Given the description of an element on the screen output the (x, y) to click on. 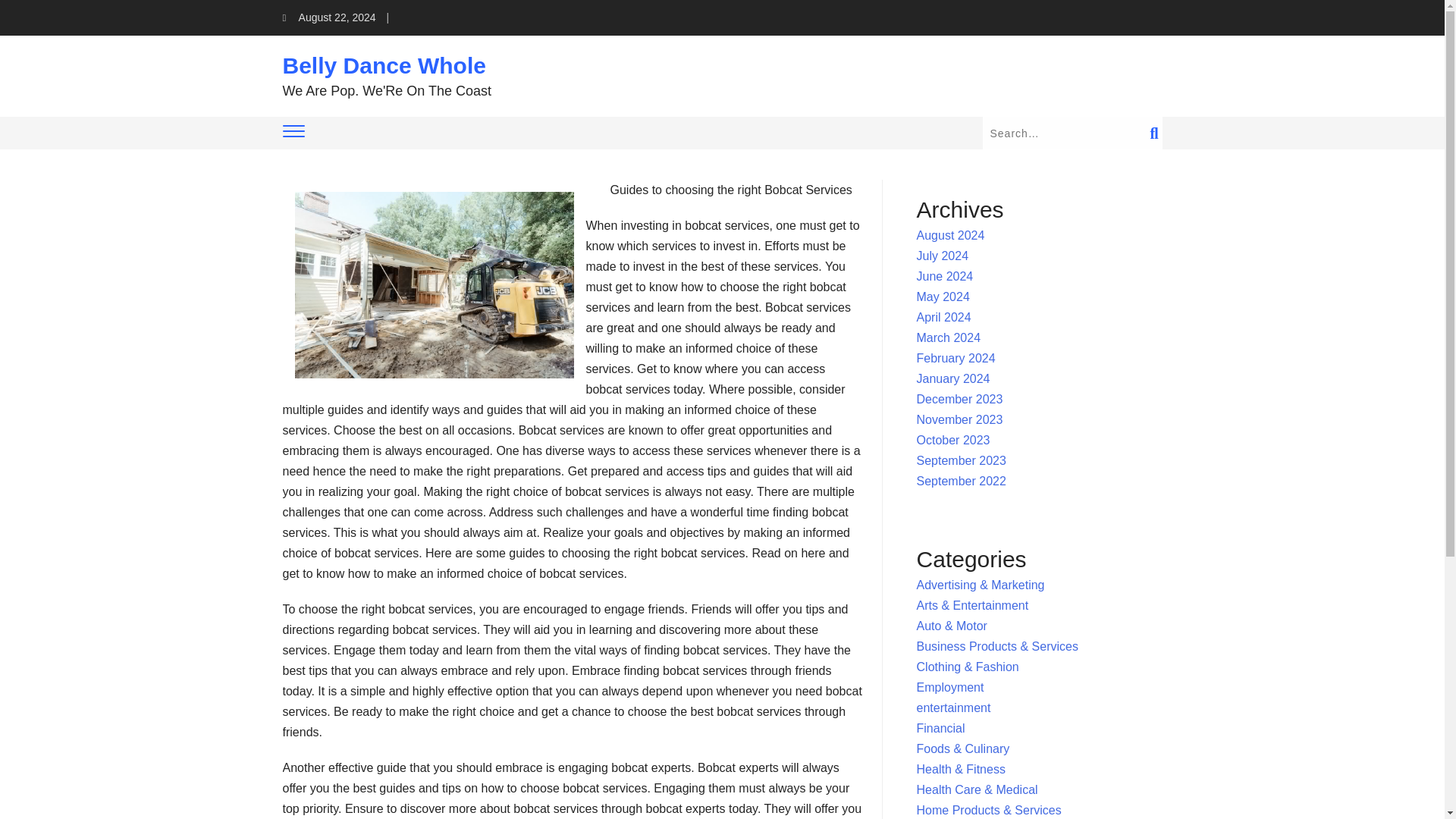
September 2022 (961, 481)
March 2024 (949, 337)
September 2023 (961, 460)
entertainment (954, 707)
November 2023 (960, 419)
October 2023 (953, 440)
February 2024 (956, 358)
December 2023 (960, 399)
Belly Dance Whole (383, 65)
Financial (941, 727)
